Given the description of an element on the screen output the (x, y) to click on. 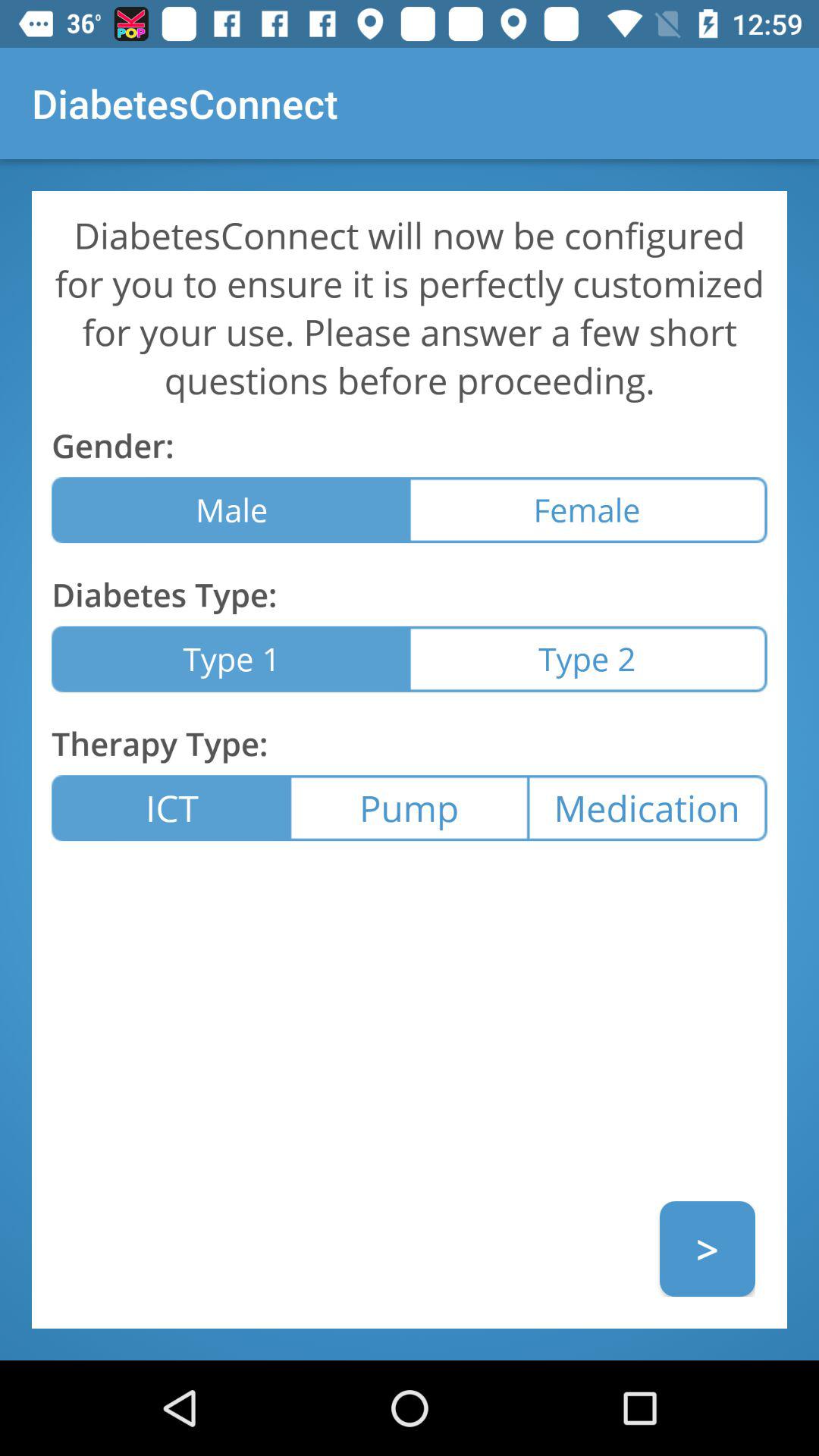
turn off the item to the right of pump icon (647, 808)
